Given the description of an element on the screen output the (x, y) to click on. 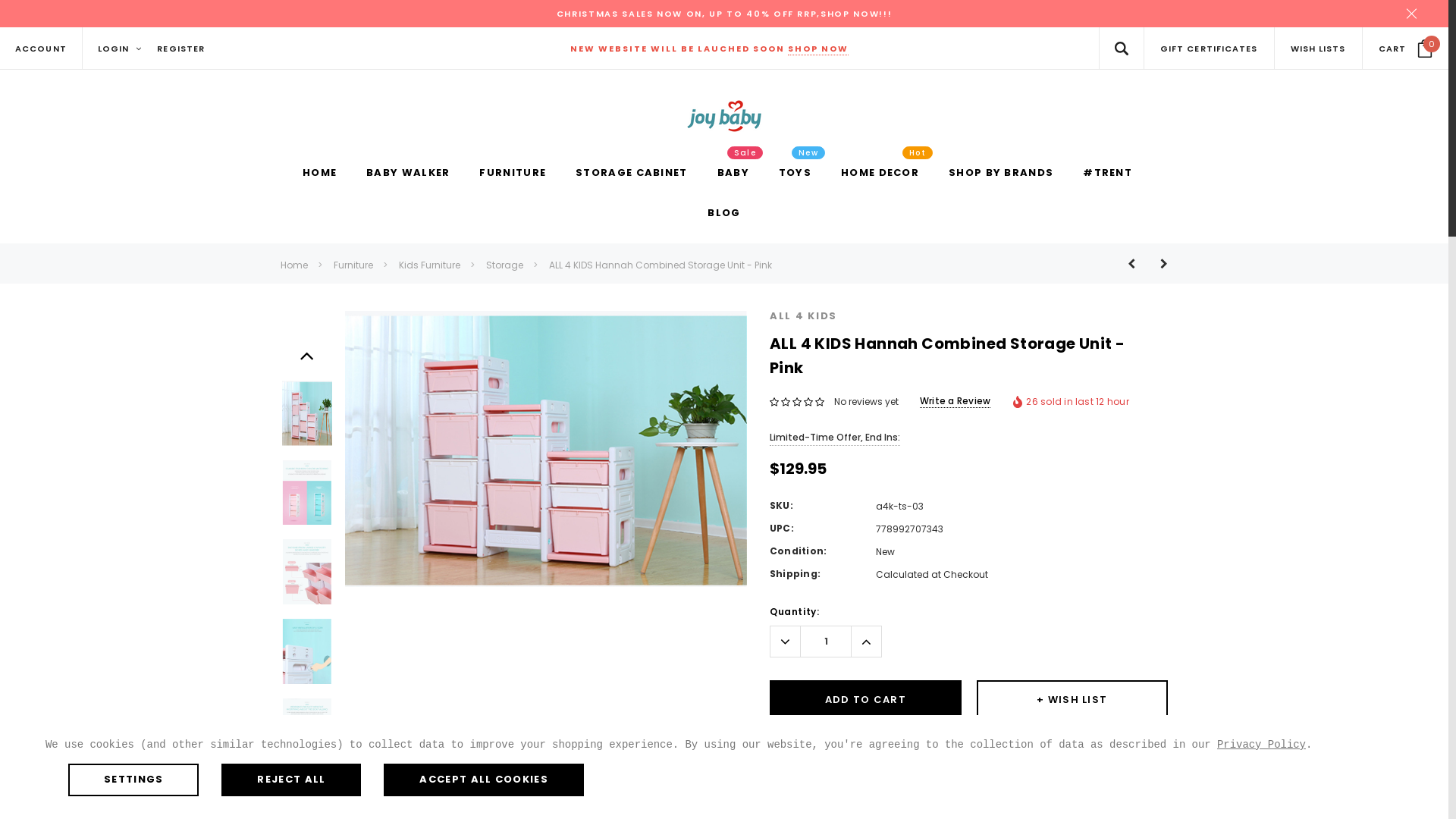
REJECT ALL Element type: text (290, 779)
Storage Element type: text (504, 264)
HOME Element type: text (319, 173)
ALL 4 KIDS Element type: text (803, 315)
GIFT CERTIFICATES Element type: text (1209, 47)
ACCOUNT Element type: text (40, 48)
JOY BABY Element type: hover (723, 116)
Decrease Quantity: Element type: text (784, 641)
FURNITURE Element type: text (512, 173)
BABY
Sale Element type: text (733, 173)
ADD TO CART Element type: text (865, 699)
Write a Review Element type: text (954, 400)
WISH LISTS Element type: text (1318, 47)
CART
0 Element type: text (1405, 48)
SHOP BY BRANDS Element type: text (1000, 173)
BLOG Element type: text (723, 213)
REGISTER Element type: text (180, 48)
+ WISH LIST Element type: text (1072, 699)
#TRENT Element type: text (1107, 173)
Privacy Policy Element type: text (1261, 744)
TOYS
New Element type: text (794, 173)
LOGIN Element type: text (119, 48)
BABY WALKER Element type: text (407, 173)
SHOP NOW Element type: text (817, 48)
ALL 4 KIDS Hannah Combined Storage Unit - Pink Element type: text (660, 264)
ACCEPT ALL COOKIES Element type: text (483, 779)
SETTINGS Element type: text (133, 779)
HOME DECOR
Hot Element type: text (879, 173)
Furniture Element type: text (353, 264)
STORAGE CABINET Element type: text (631, 173)
Kids Furniture Element type: text (429, 264)
Home Element type: text (293, 264)
Increase Quantity: Element type: text (865, 641)
